Given the description of an element on the screen output the (x, y) to click on. 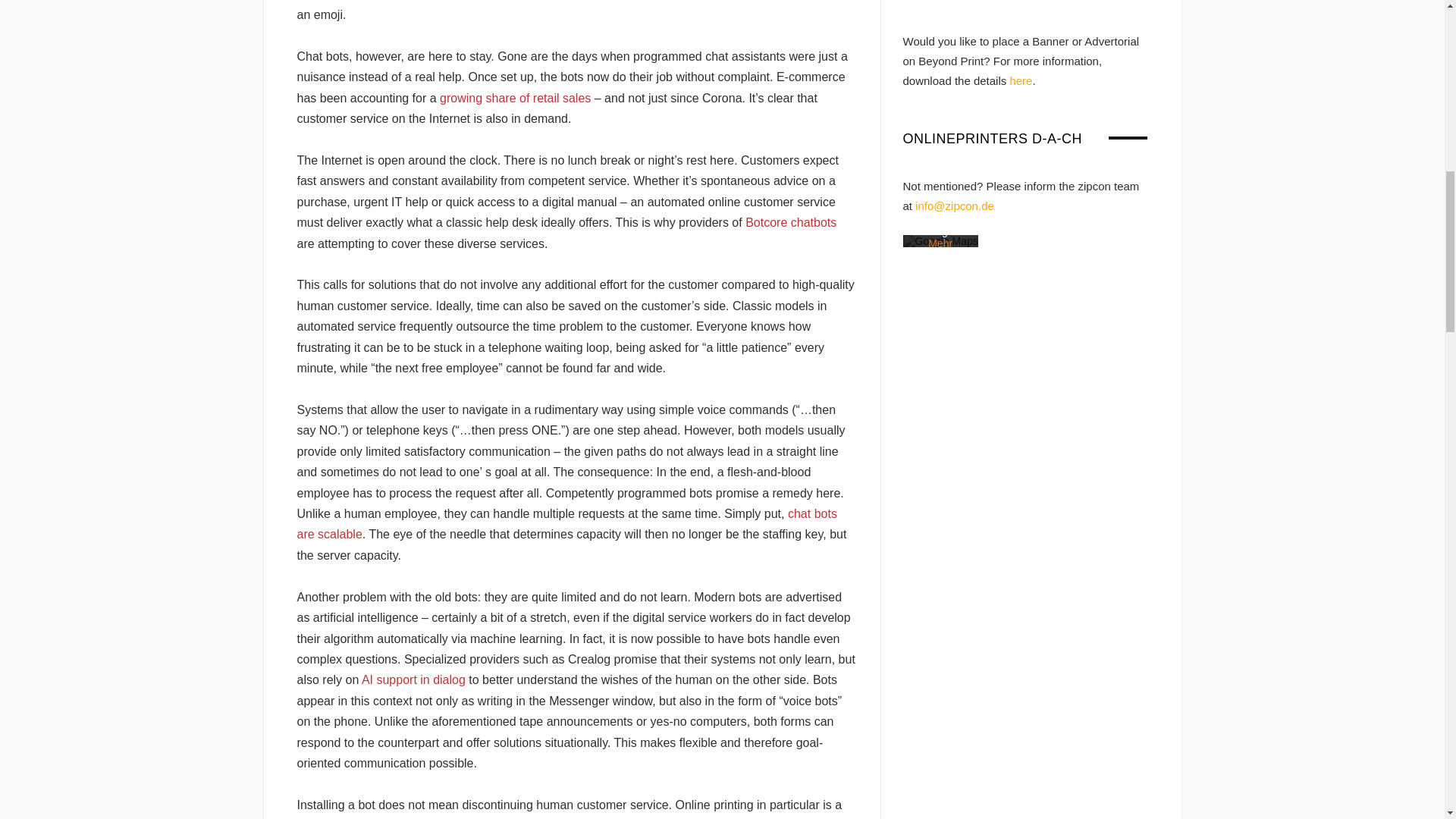
growing share of retail sales (515, 97)
chat bots are scalable (567, 523)
Botcore chatbots (790, 222)
1 (923, 325)
AI support in dialog (413, 679)
